Given the description of an element on the screen output the (x, y) to click on. 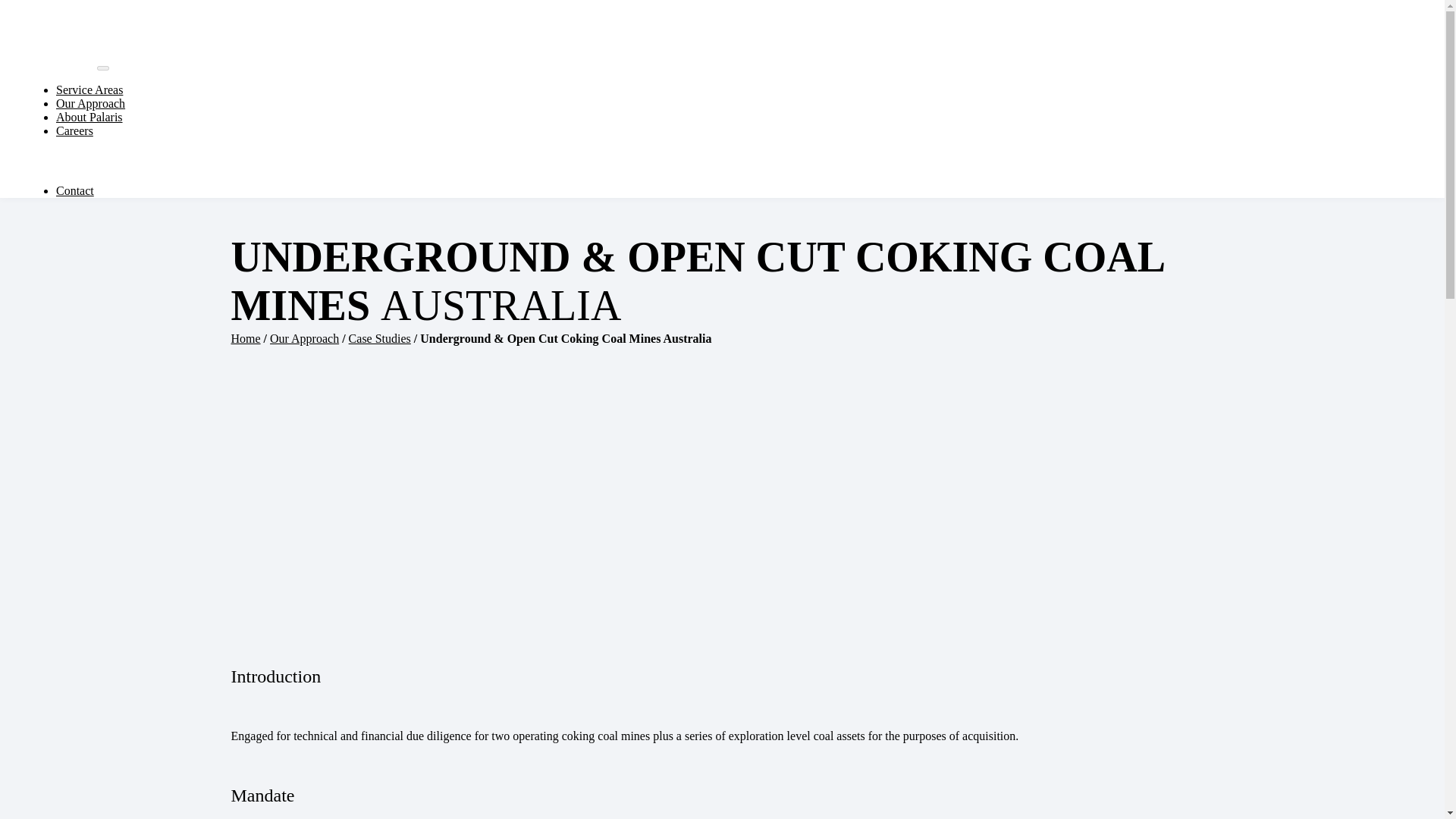
Case Studies (379, 338)
Contact (75, 190)
Service Areas (89, 89)
Careers (74, 130)
Our Approach (304, 338)
Search (171, 160)
About Palaris (89, 116)
Search (171, 160)
Search (171, 160)
Our Approach (90, 103)
